Given the description of an element on the screen output the (x, y) to click on. 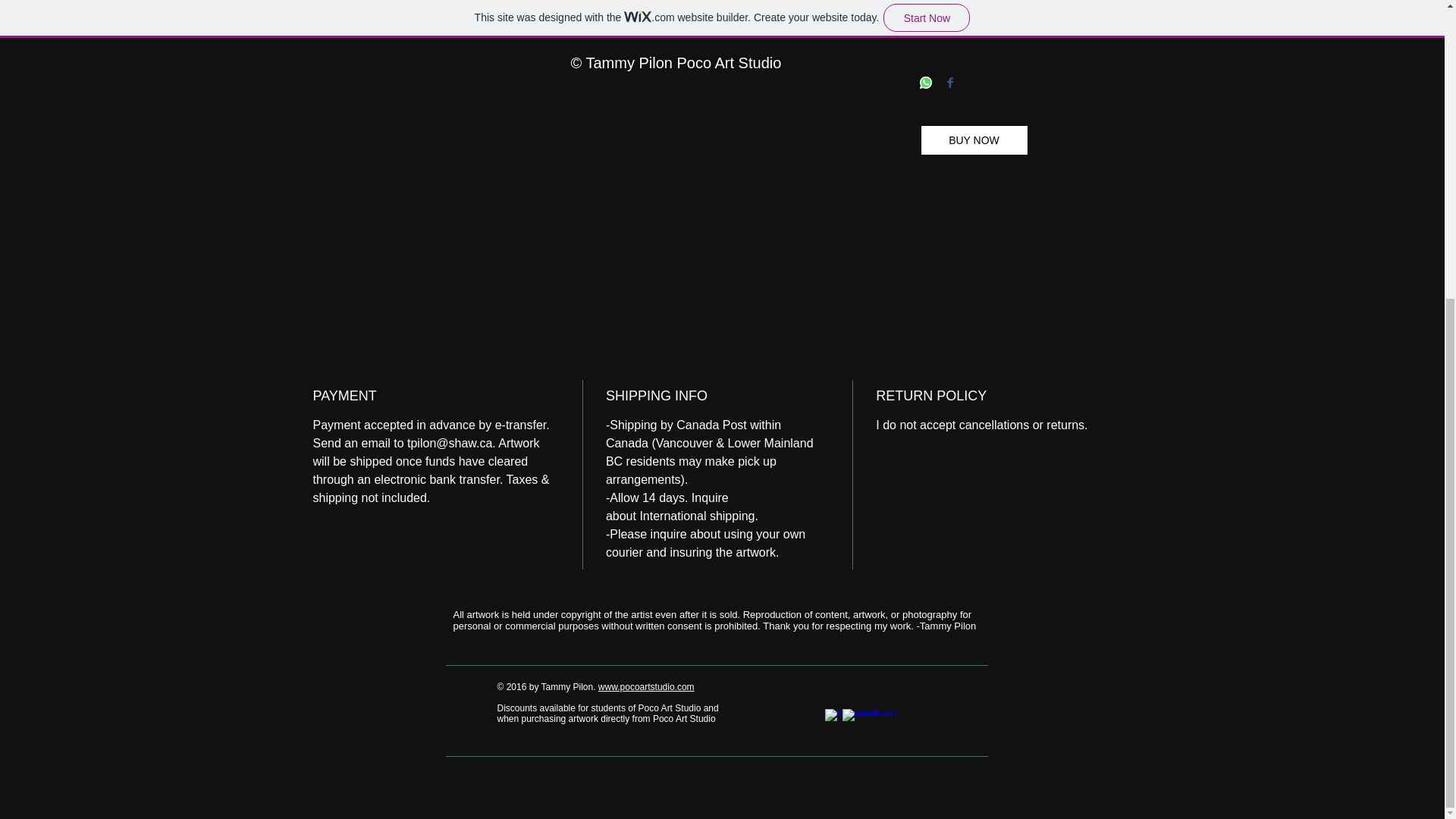
www.pocoartstudio.com (646, 686)
BUY NOW (973, 140)
